Given the description of an element on the screen output the (x, y) to click on. 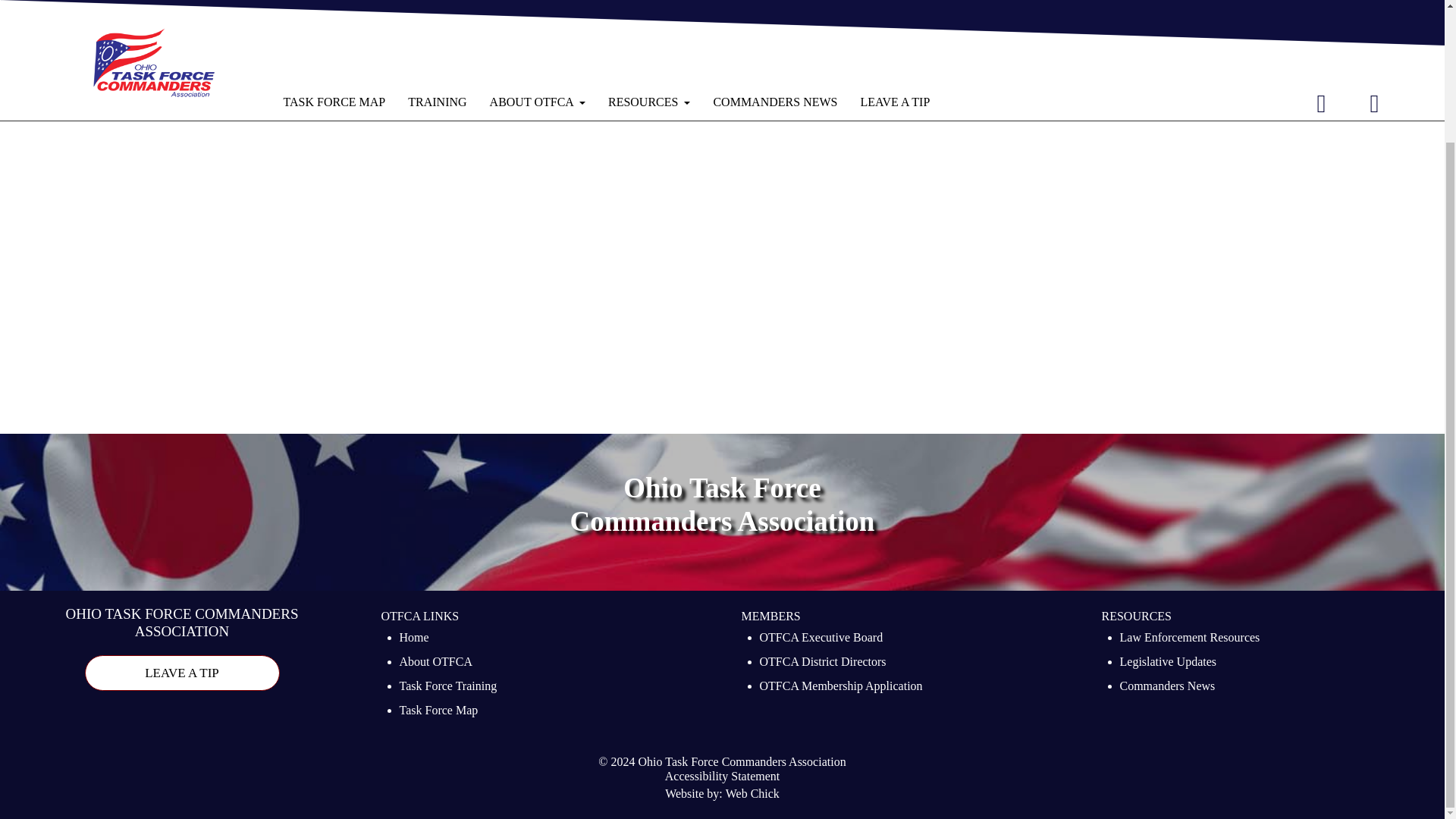
Task Force Training (447, 687)
home page (460, 25)
Web Chick (751, 794)
Legislative Updates (1167, 663)
About OTFCA (434, 663)
LEAVE A TIP (181, 673)
Law Enforcement Resources (1189, 639)
Task Force Map (437, 711)
OTFCA Membership Application (841, 687)
Commanders News (1166, 687)
